Given the description of an element on the screen output the (x, y) to click on. 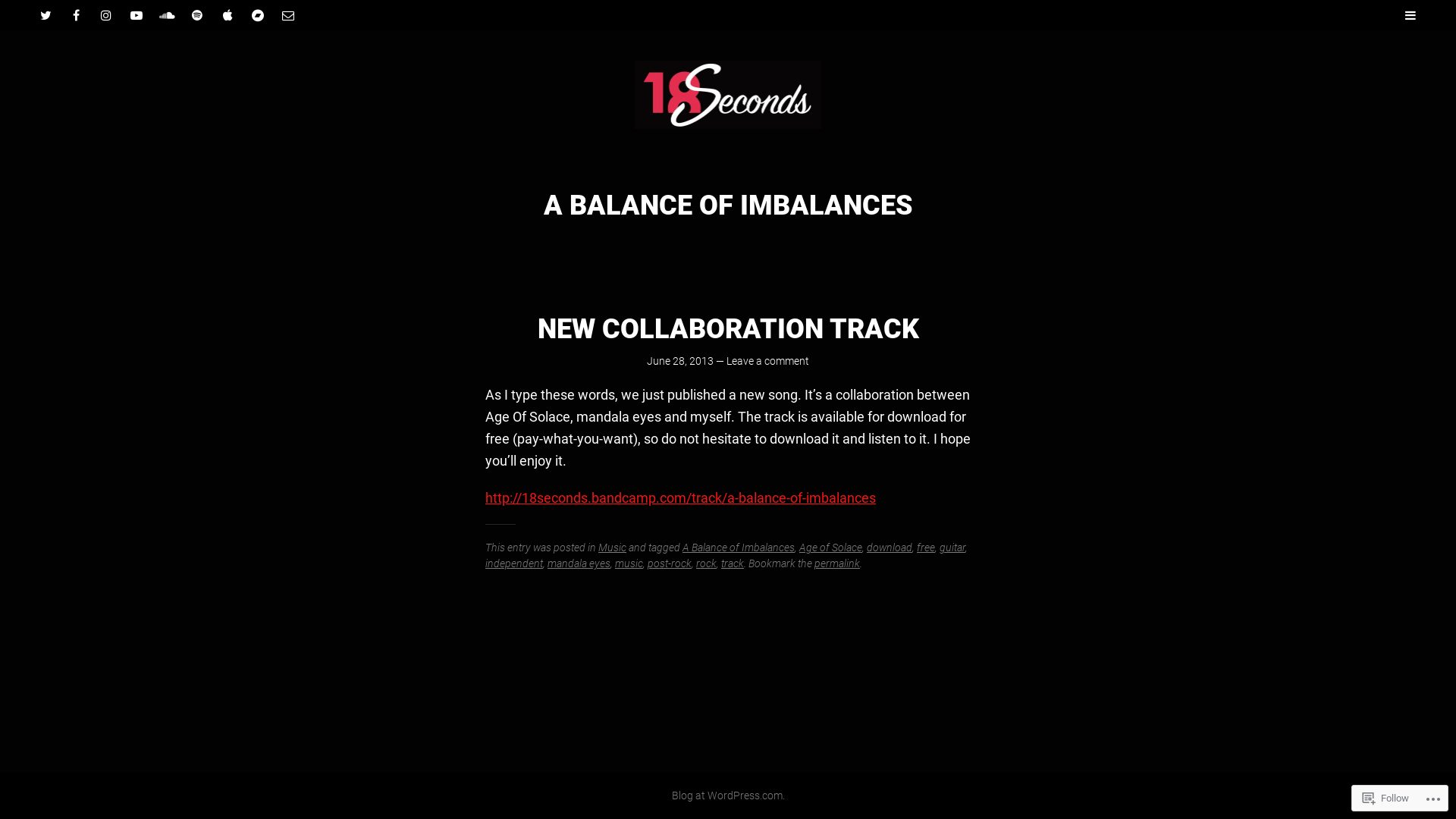
Instagram Element type: hover (106, 15)
Follow Element type: text (1385, 797)
iTunes Element type: hover (227, 15)
Music Element type: text (612, 547)
Leave a comment Element type: text (767, 360)
Twitter Element type: hover (45, 15)
A Balance of Imbalances Element type: text (738, 547)
guitar Element type: text (952, 547)
download Element type: text (889, 547)
YouTube Element type: hover (136, 15)
18 SECONDS Element type: text (789, 92)
NEW COLLABORATION TRACK Element type: text (727, 329)
18 Seconds Element type: hover (728, 94)
http://18seconds.bandcamp.com/track/a-balance-of-imbalances Element type: text (680, 497)
Age of Solace Element type: text (830, 547)
SoundCloud Element type: hover (166, 15)
rock Element type: text (706, 563)
Spotify Element type: hover (197, 15)
track Element type: text (732, 563)
music Element type: text (629, 563)
free Element type: text (925, 547)
permalink Element type: text (836, 563)
independent Element type: text (513, 563)
June 28, 2013 Element type: text (679, 360)
Bandcamp Element type: hover (257, 15)
post-rock Element type: text (669, 563)
Facebook Element type: hover (75, 15)
mandala eyes Element type: text (578, 563)
Email Element type: hover (288, 15)
Blog at WordPress.com. Element type: text (727, 795)
